Given the description of an element on the screen output the (x, y) to click on. 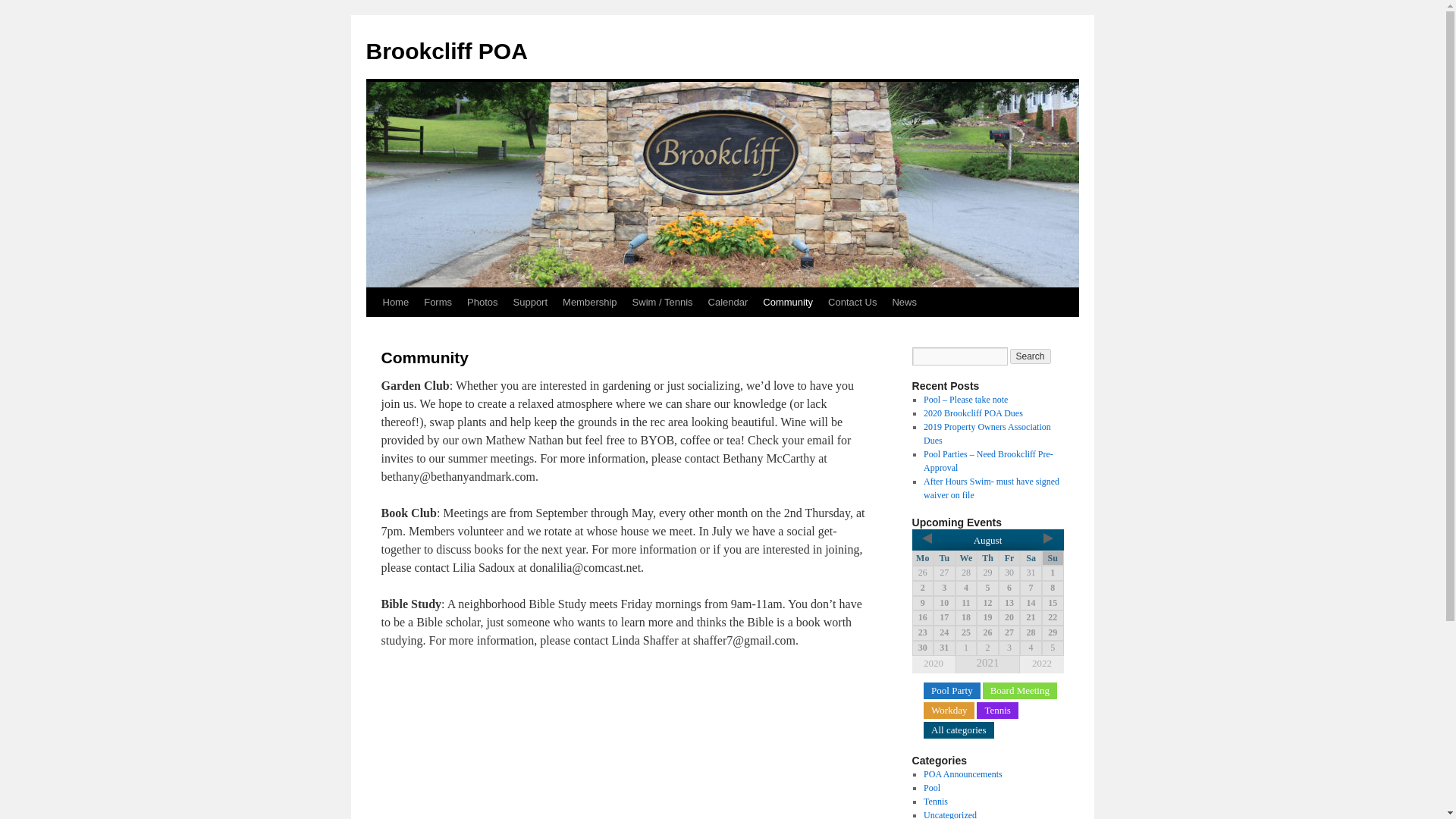
Photos (482, 302)
Uncategorized (949, 814)
Search (1030, 355)
Membership (589, 302)
Brookcliff POA (446, 50)
Contact Us (852, 302)
Forms (438, 302)
Support (530, 302)
Tennis (935, 801)
Search (1030, 355)
